Given the description of an element on the screen output the (x, y) to click on. 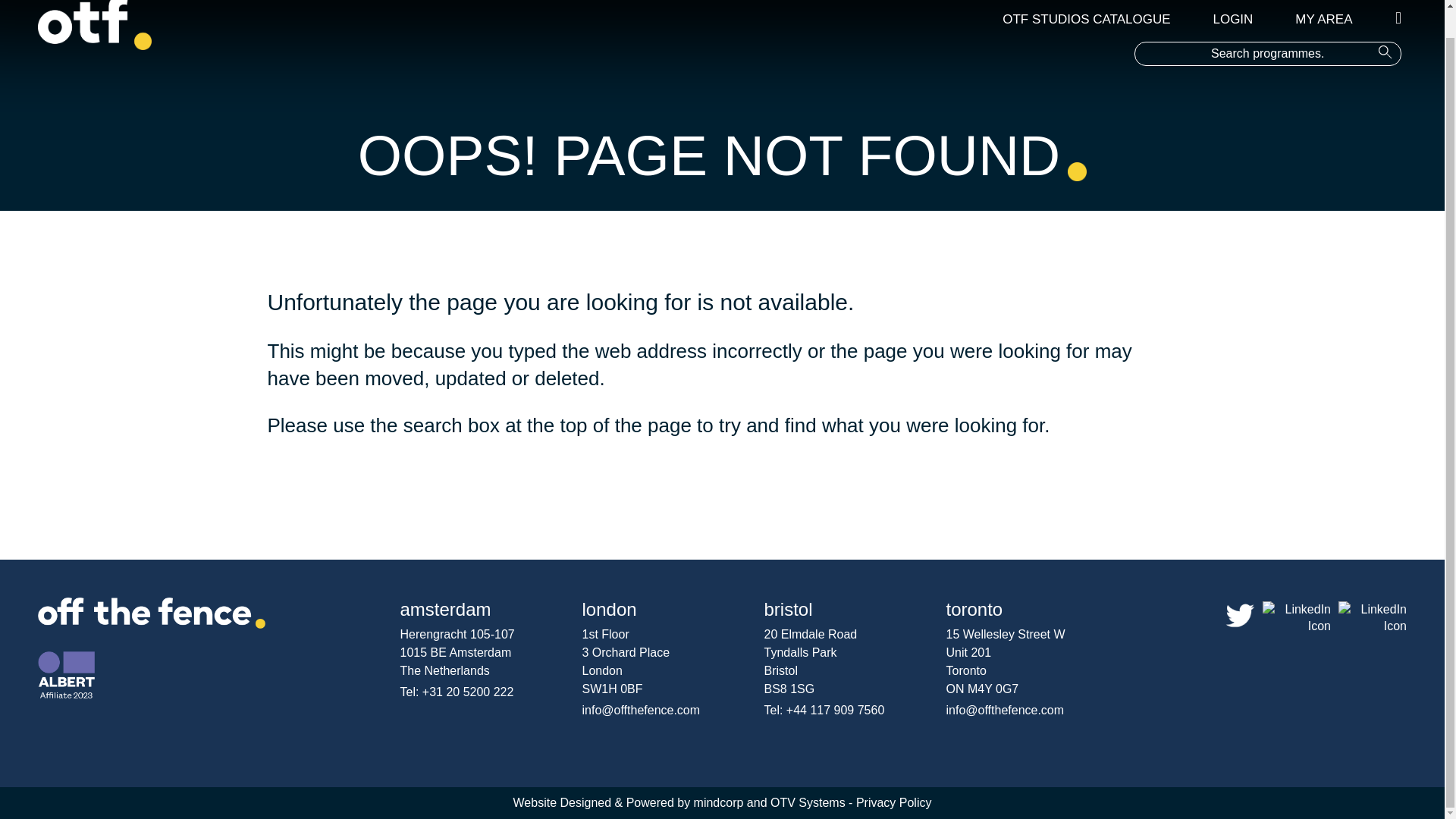
Privacy Policy (893, 802)
  LOGIN   (1232, 19)
MY AREA (1323, 19)
www.offthefence.com (323, 474)
OTF STUDIOS CATALOGUE (1086, 19)
